Given the description of an element on the screen output the (x, y) to click on. 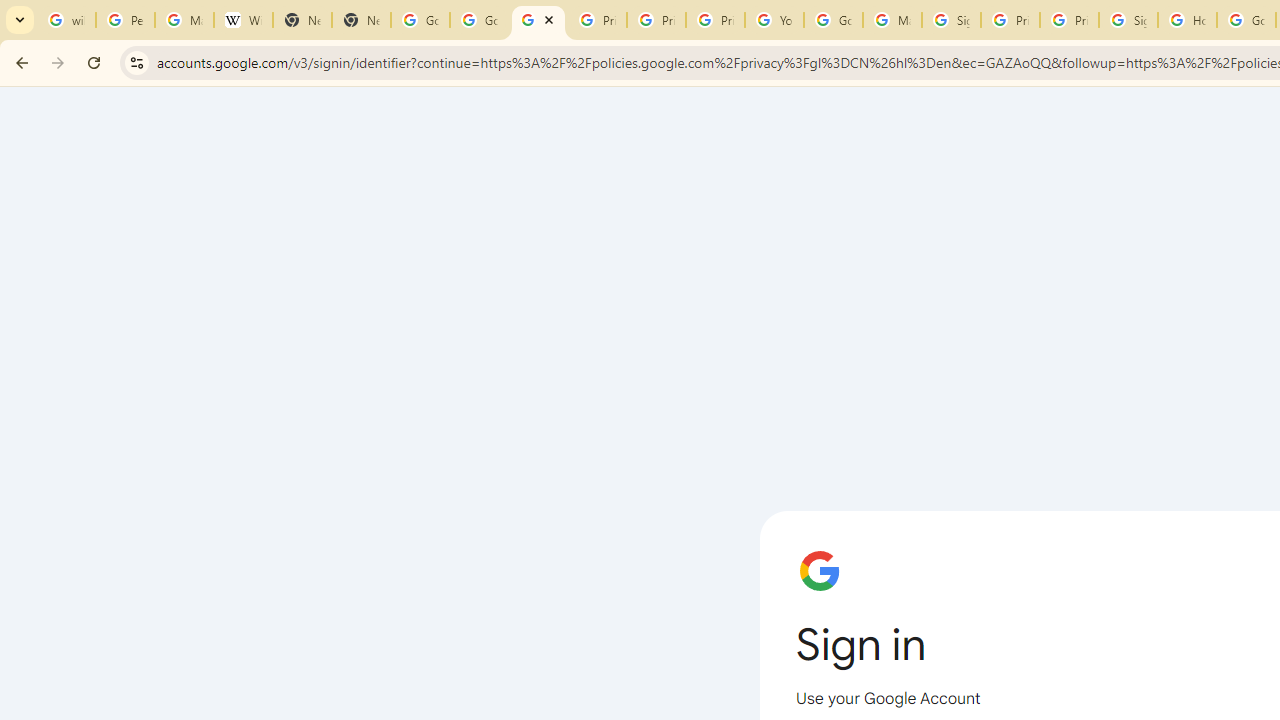
YouTube (774, 20)
Google Drive: Sign-in (479, 20)
New Tab (301, 20)
